Given the description of an element on the screen output the (x, y) to click on. 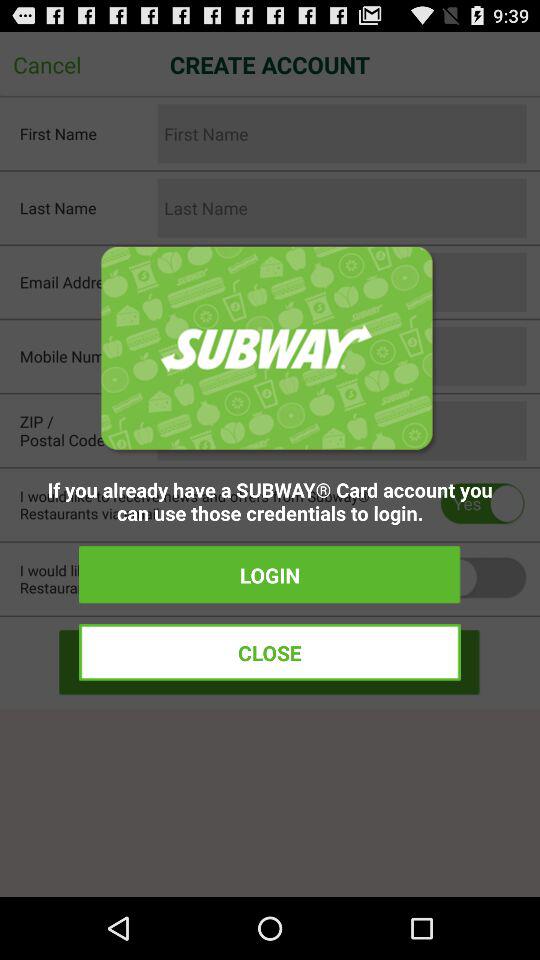
press the close icon (269, 652)
